Given the description of an element on the screen output the (x, y) to click on. 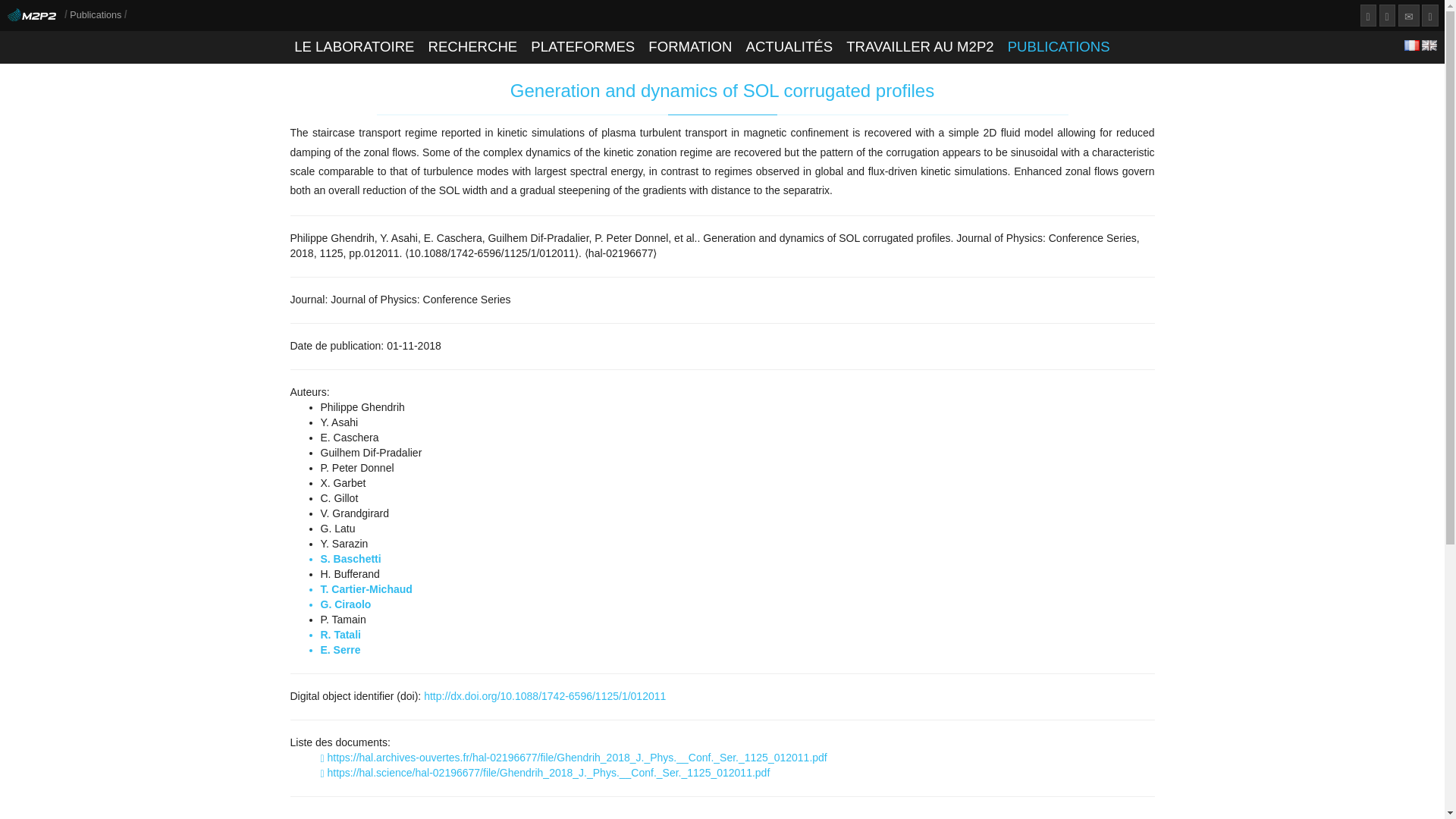
PUBLICATIONS (1058, 47)
Publications (96, 14)
RECHERCHE (472, 47)
TRAVAILLER AU M2P2 (919, 47)
PLATEFORMES (582, 47)
FORMATION (690, 47)
LE LABORATOIRE (354, 47)
